Given the description of an element on the screen output the (x, y) to click on. 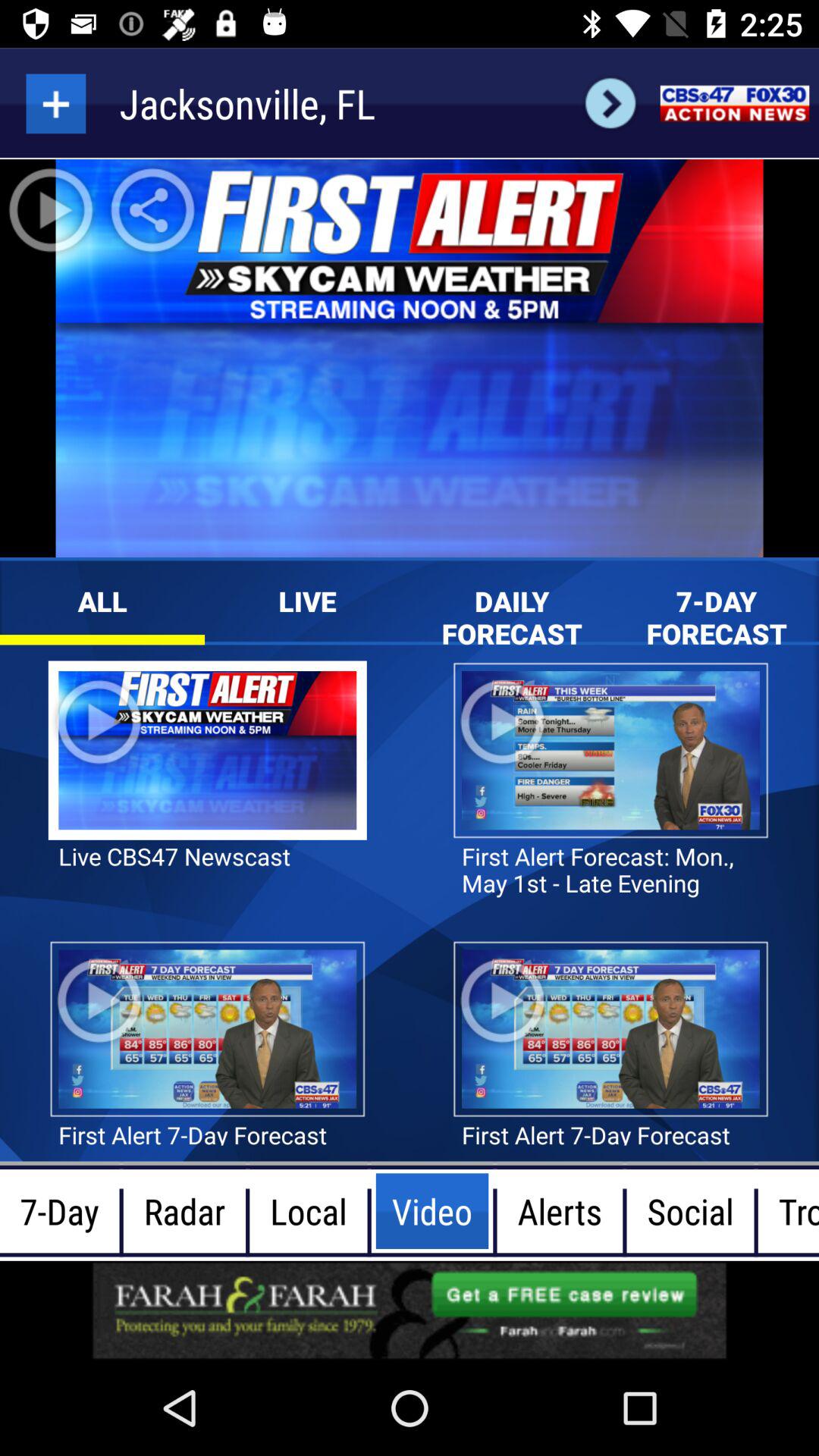
add new (55, 103)
